Given the description of an element on the screen output the (x, y) to click on. 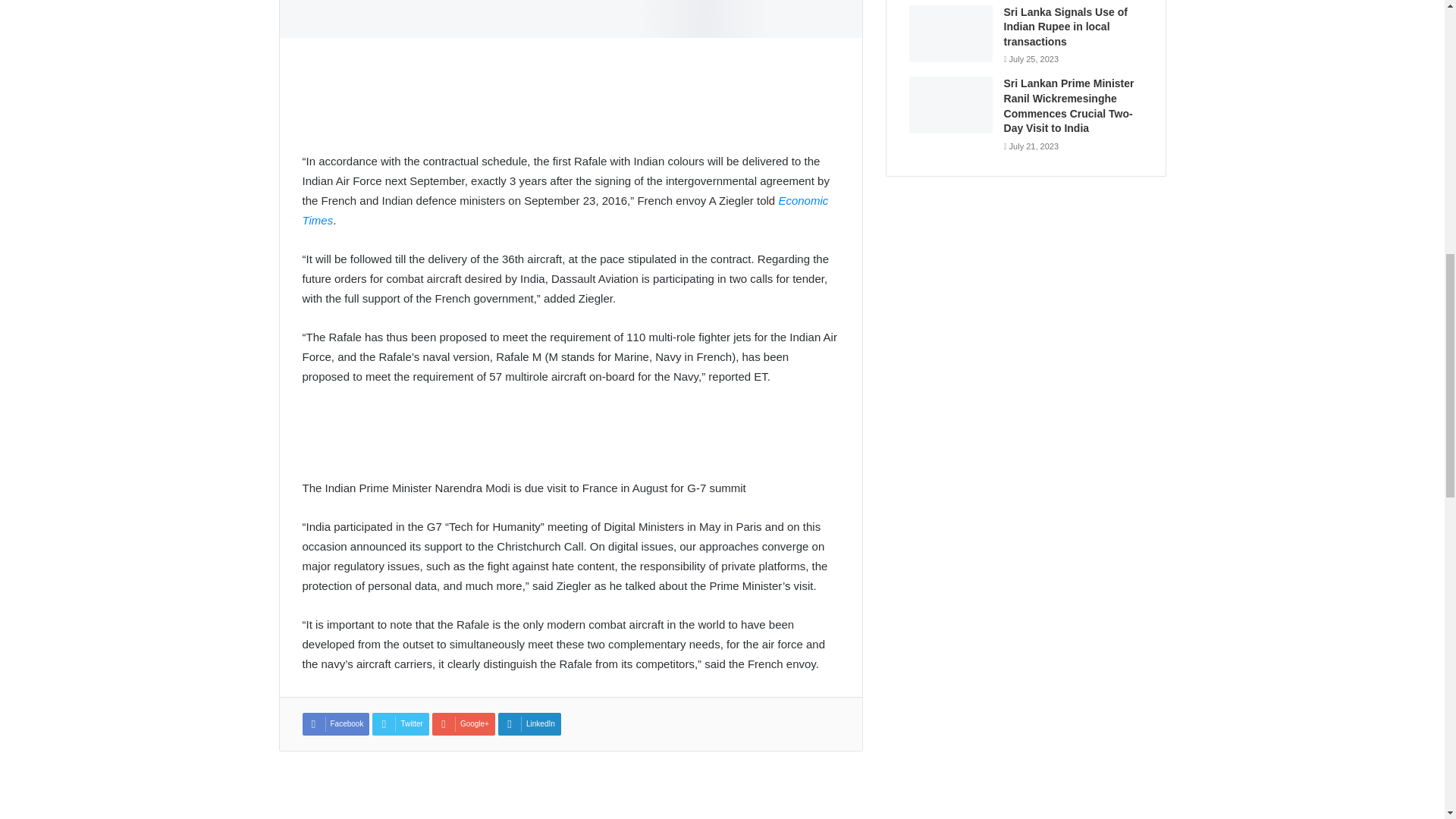
Facebook (335, 723)
Twitter (400, 723)
Economic Times (564, 210)
LinkedIn (528, 723)
